Given the description of an element on the screen output the (x, y) to click on. 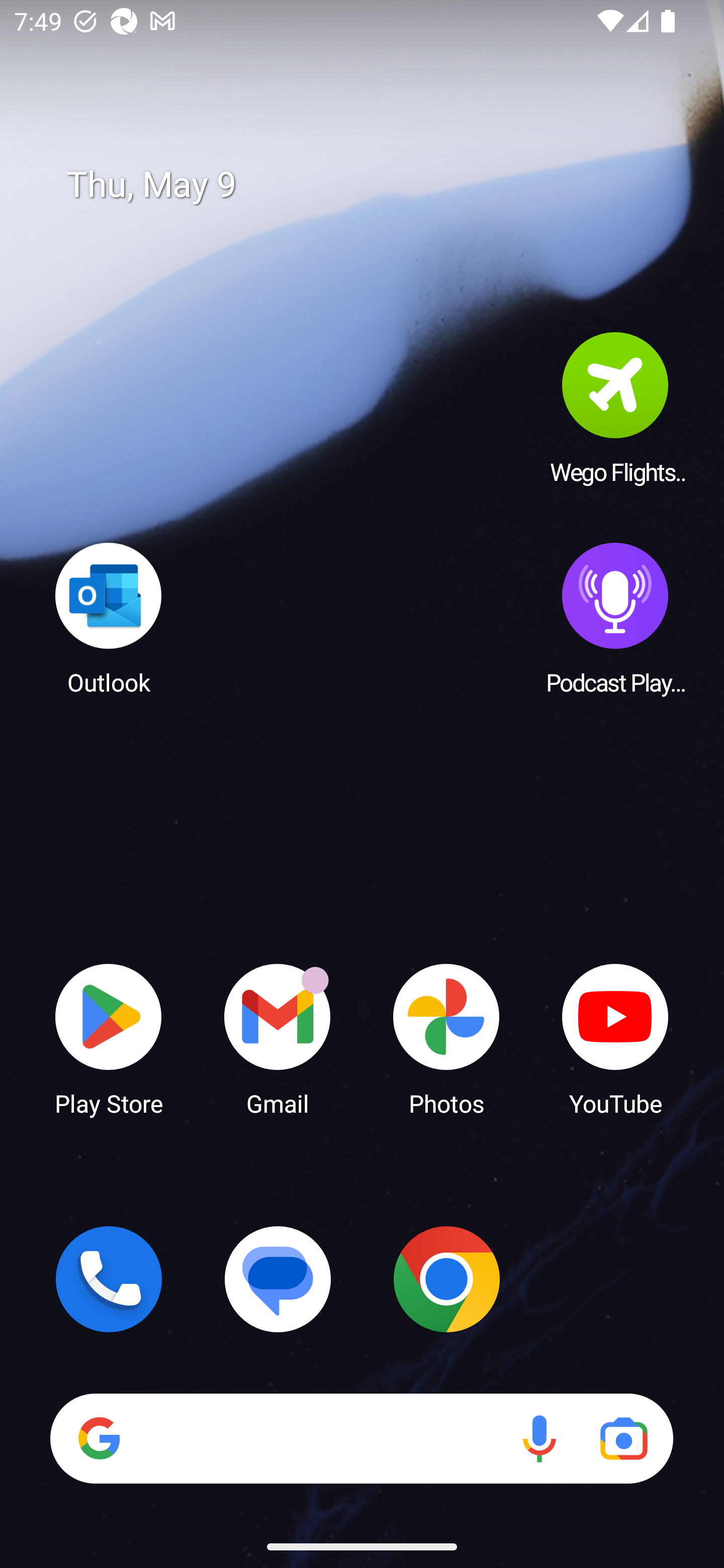
Thu, May 9 (375, 184)
Wego Flights & Hotels (615, 407)
Outlook (108, 617)
Podcast Player (615, 617)
Play Store (108, 1038)
Gmail Gmail has 18 notifications (277, 1038)
Photos (445, 1038)
YouTube (615, 1038)
Phone (108, 1279)
Messages (277, 1279)
Chrome (446, 1279)
Search Voice search Google Lens (361, 1438)
Voice search (539, 1438)
Google Lens (623, 1438)
